Given the description of an element on the screen output the (x, y) to click on. 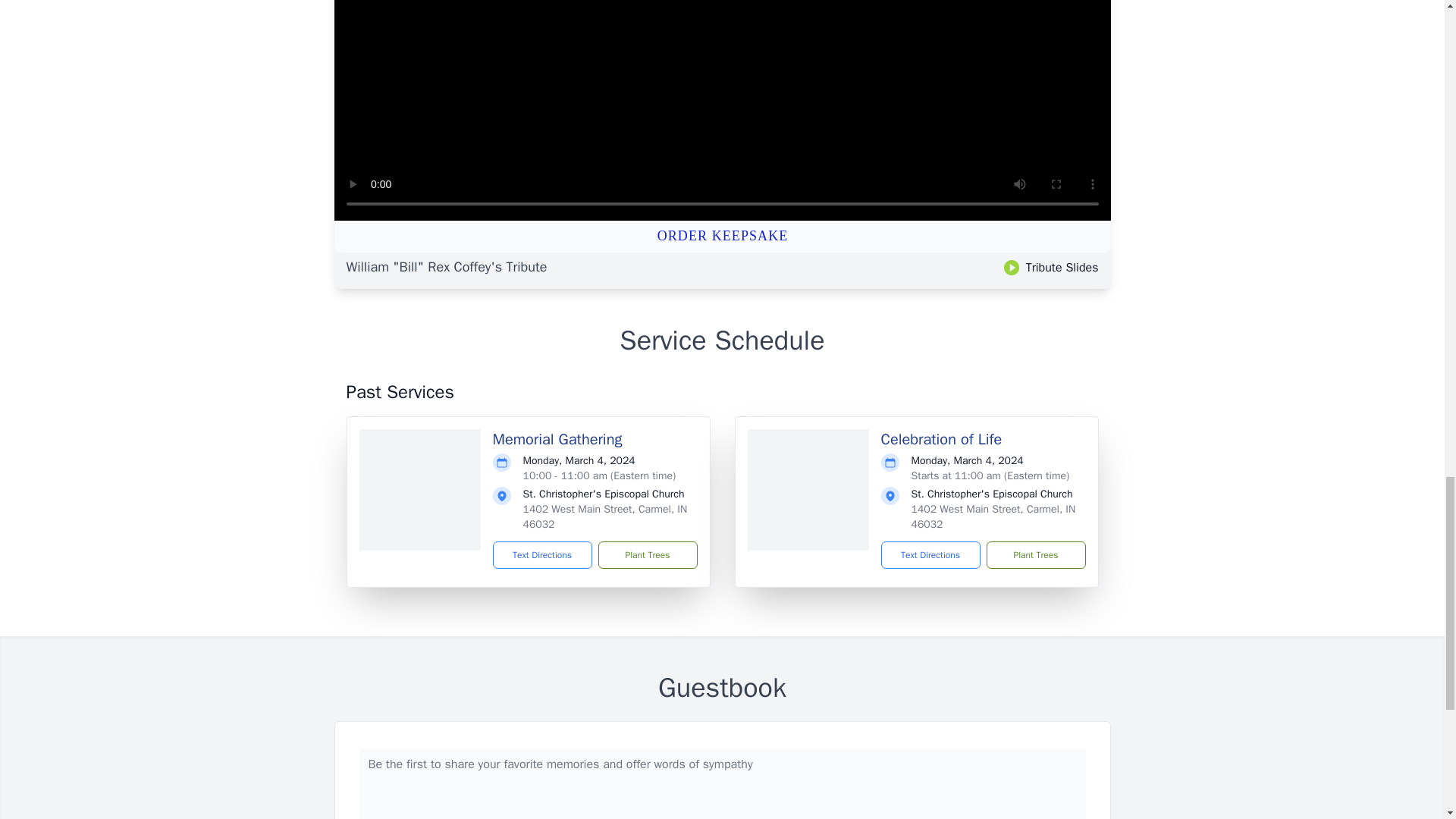
Text Directions (542, 554)
1402 West Main Street, Carmel, IN 46032 (993, 516)
Plant Trees (1034, 554)
Plant Trees (646, 554)
1402 West Main Street, Carmel, IN 46032 (604, 516)
Text Directions (929, 554)
